Given the description of an element on the screen output the (x, y) to click on. 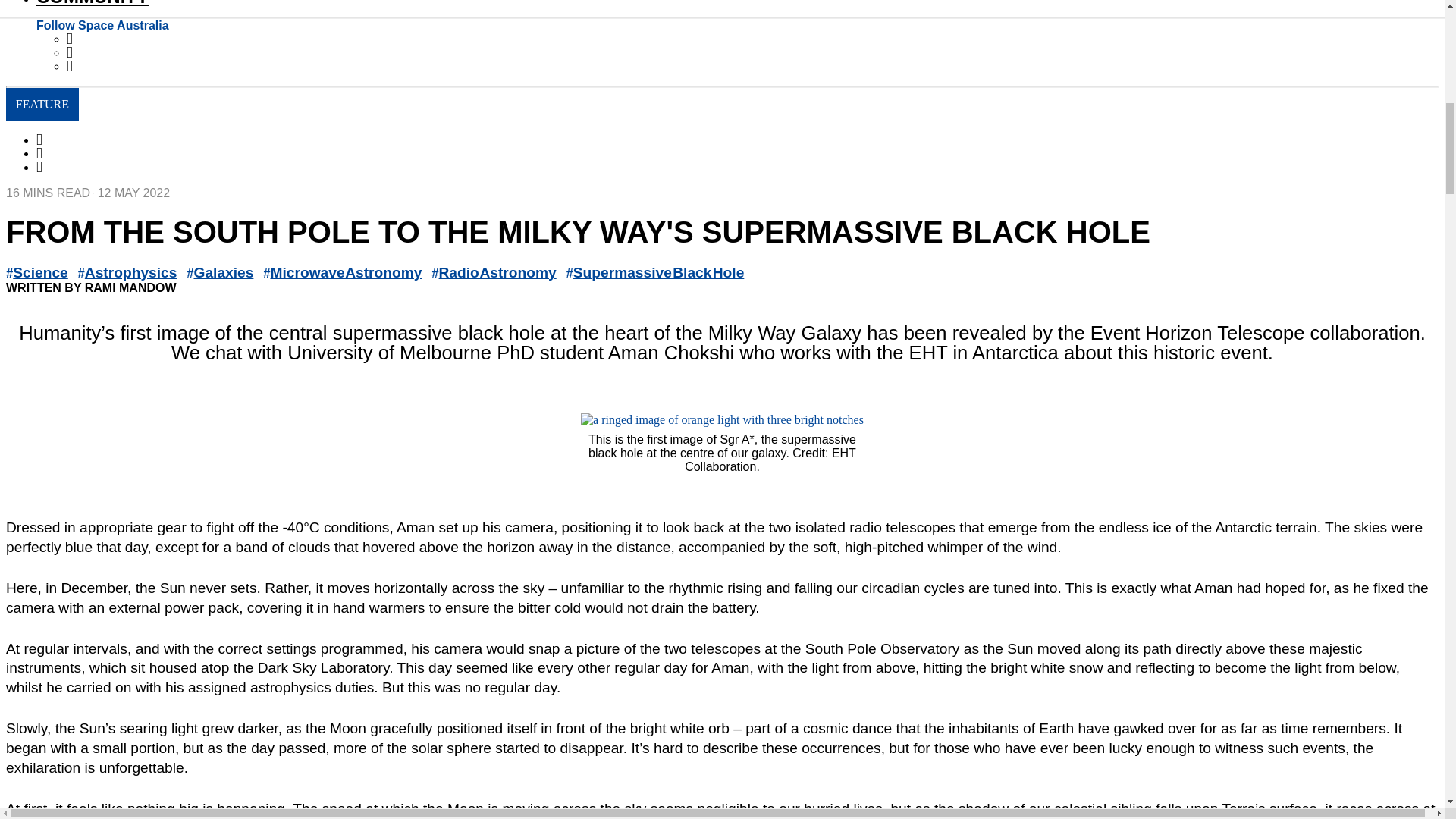
COMMUNITY (92, 3)
Galaxies (223, 272)
Microwave Astronomy (345, 272)
Supermassive Black Hole (658, 272)
Science (40, 272)
Astrophysics (130, 272)
Radio Astronomy (497, 272)
